Given the description of an element on the screen output the (x, y) to click on. 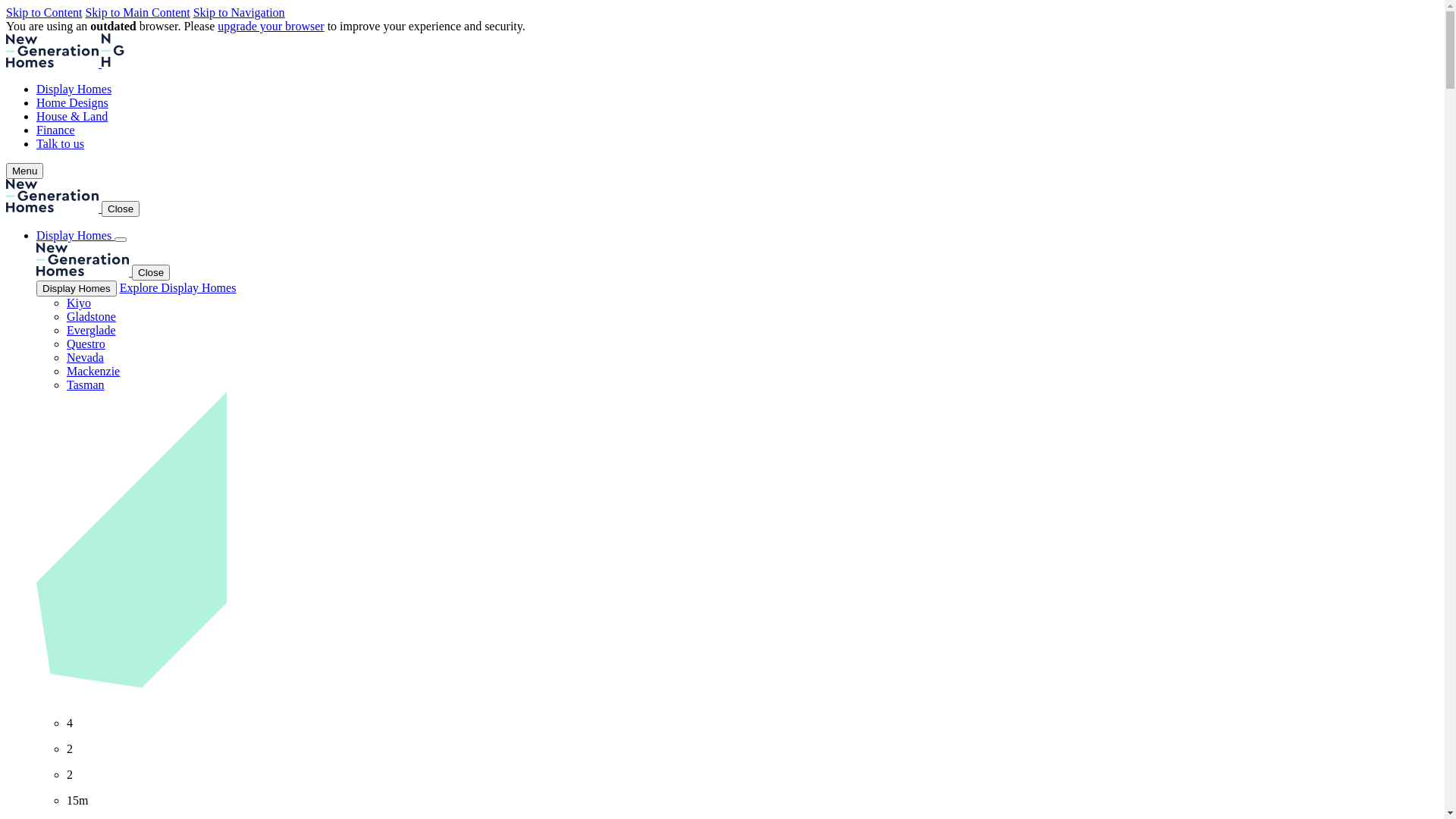
Nevada Element type: text (84, 357)
Menu Element type: text (24, 170)
Skip to Content Element type: text (43, 12)
Talk to us Element type: text (60, 143)
Questro Element type: text (85, 343)
Finance Element type: text (55, 129)
Display Homes Element type: text (76, 288)
Tasman Element type: text (85, 384)
Mackenzie Element type: text (92, 370)
Close Element type: text (120, 208)
upgrade your browser Element type: text (270, 25)
Display Homes Element type: text (75, 235)
House & Land Element type: text (71, 115)
Gladstone Element type: text (91, 316)
Close Element type: text (150, 272)
Kiyo Element type: text (78, 302)
Home Designs Element type: text (72, 102)
Display Homes Element type: text (73, 88)
Skip to Main Content Element type: text (136, 12)
Everglade Element type: text (91, 329)
Explore Display Homes Element type: text (177, 287)
Skip to Navigation Element type: text (239, 12)
